Given the description of an element on the screen output the (x, y) to click on. 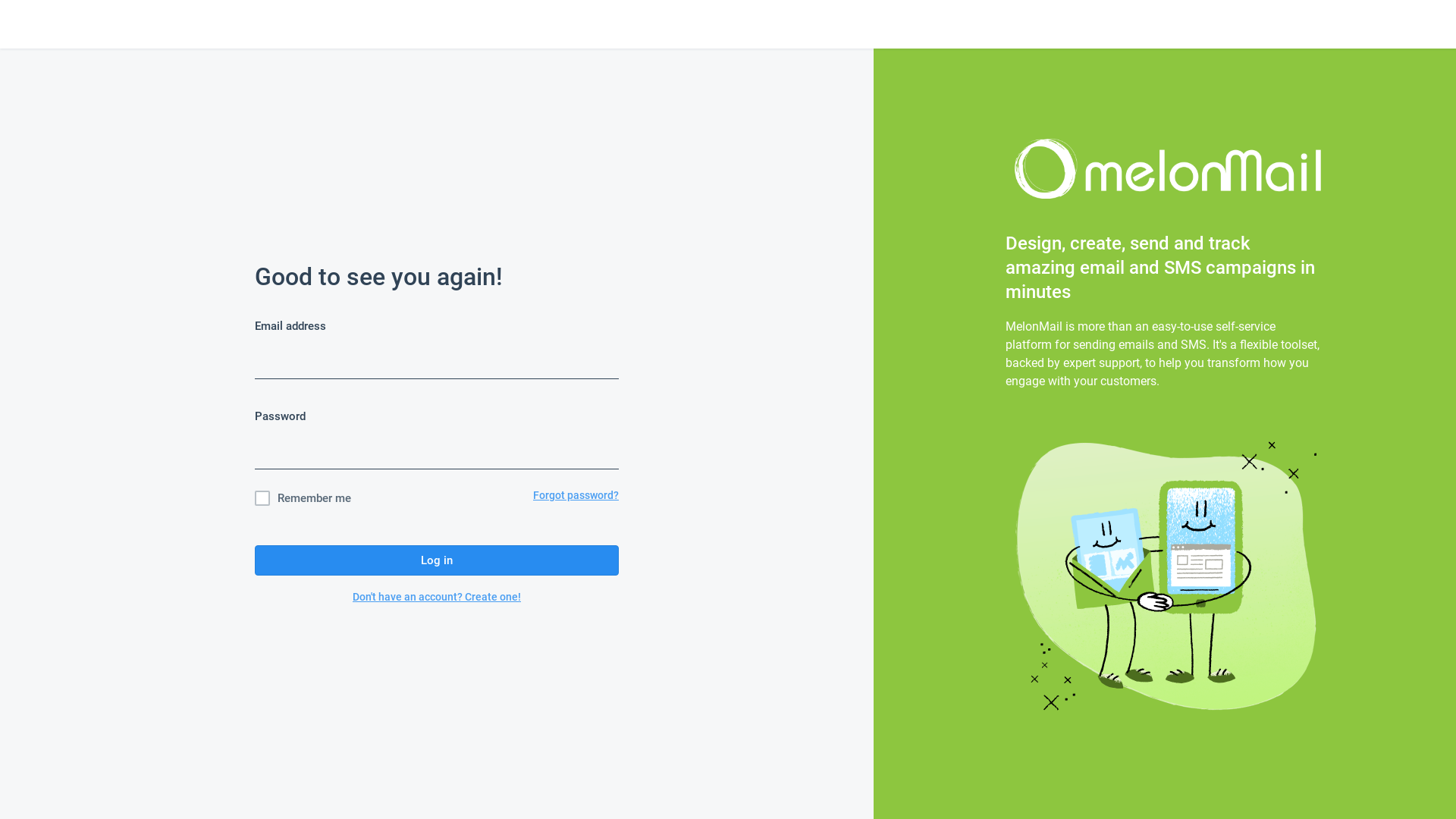
Log in Element type: text (436, 560)
Don't have an account? Create one! Element type: text (436, 596)
Forgot password? Element type: text (575, 498)
